Given the description of an element on the screen output the (x, y) to click on. 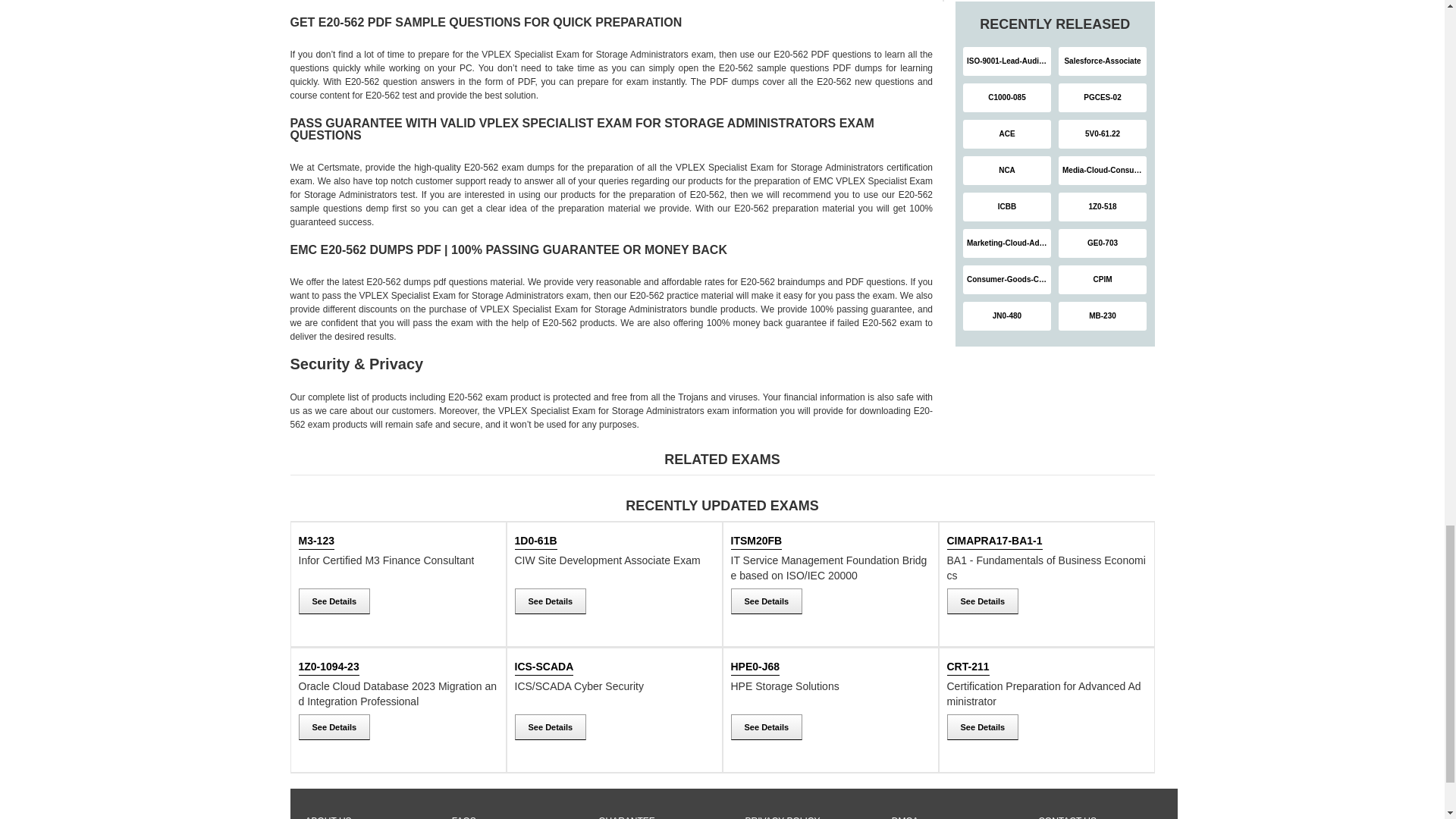
ACE (1006, 133)
5V0-61.22 (1102, 133)
PGCES-02 (1102, 97)
ISO-9001-Lead-Auditor (1006, 61)
Salesforce-Associate (1102, 61)
C1000-085 (1006, 97)
